Given the description of an element on the screen output the (x, y) to click on. 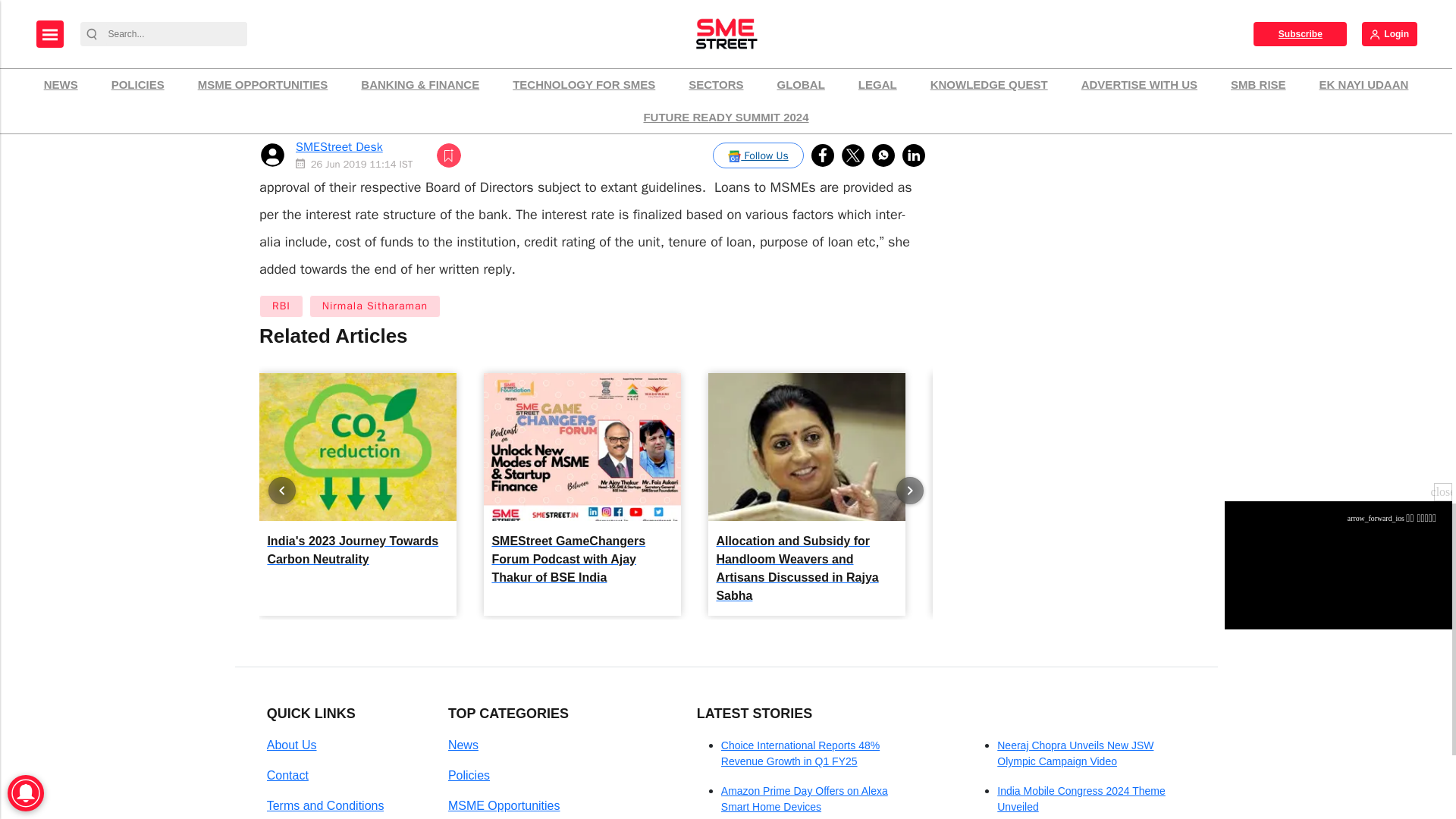
3rd party ad content (1066, 35)
